Given the description of an element on the screen output the (x, y) to click on. 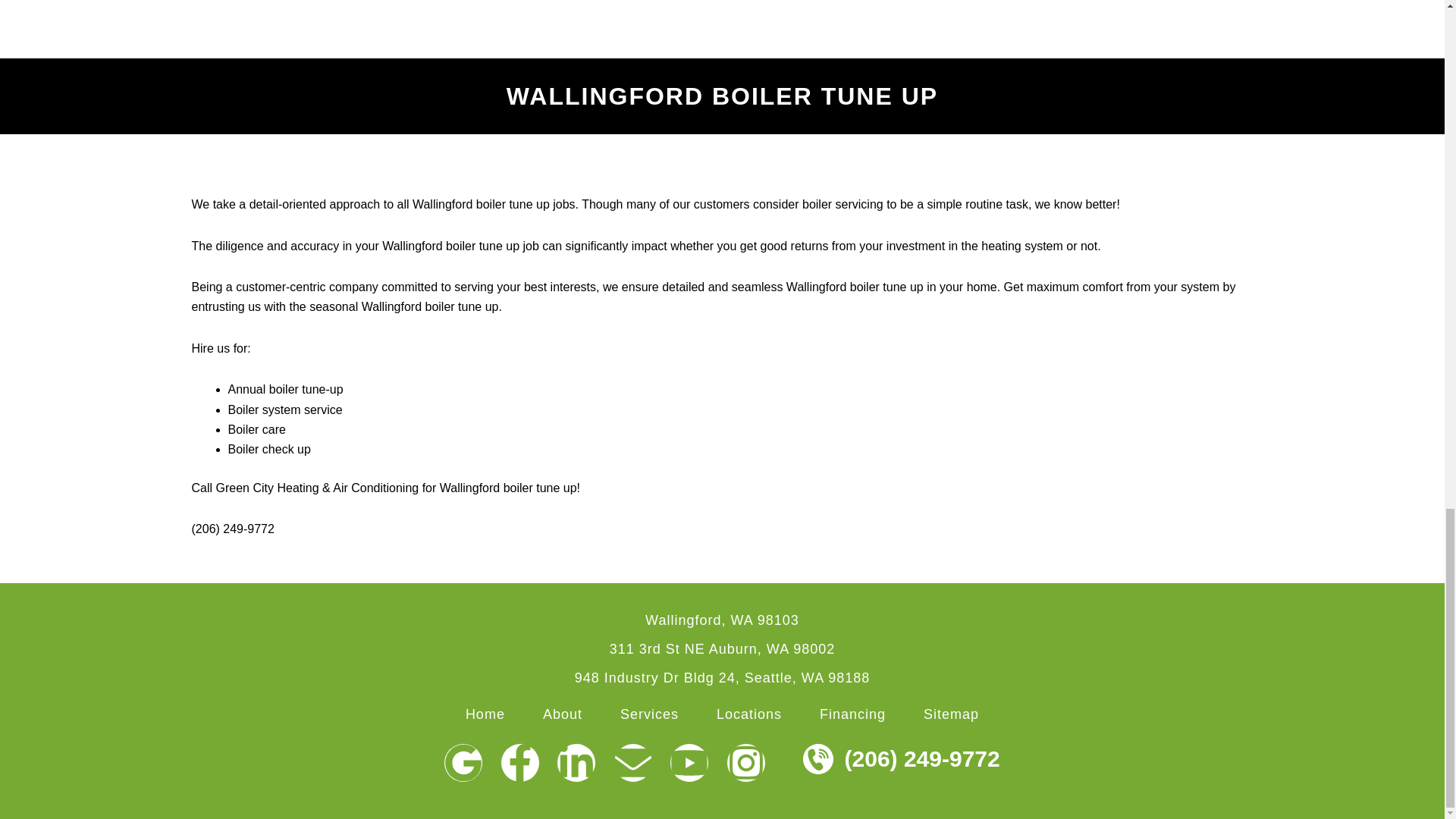
Locations (748, 714)
311 3rd St NE Auburn, WA 98002 (722, 648)
About (562, 714)
Home (485, 714)
948 Industry Dr Bldg 24, Seattle, WA 98188 (722, 677)
Wallingford, WA 98103 (722, 620)
Services (649, 714)
